Given the description of an element on the screen output the (x, y) to click on. 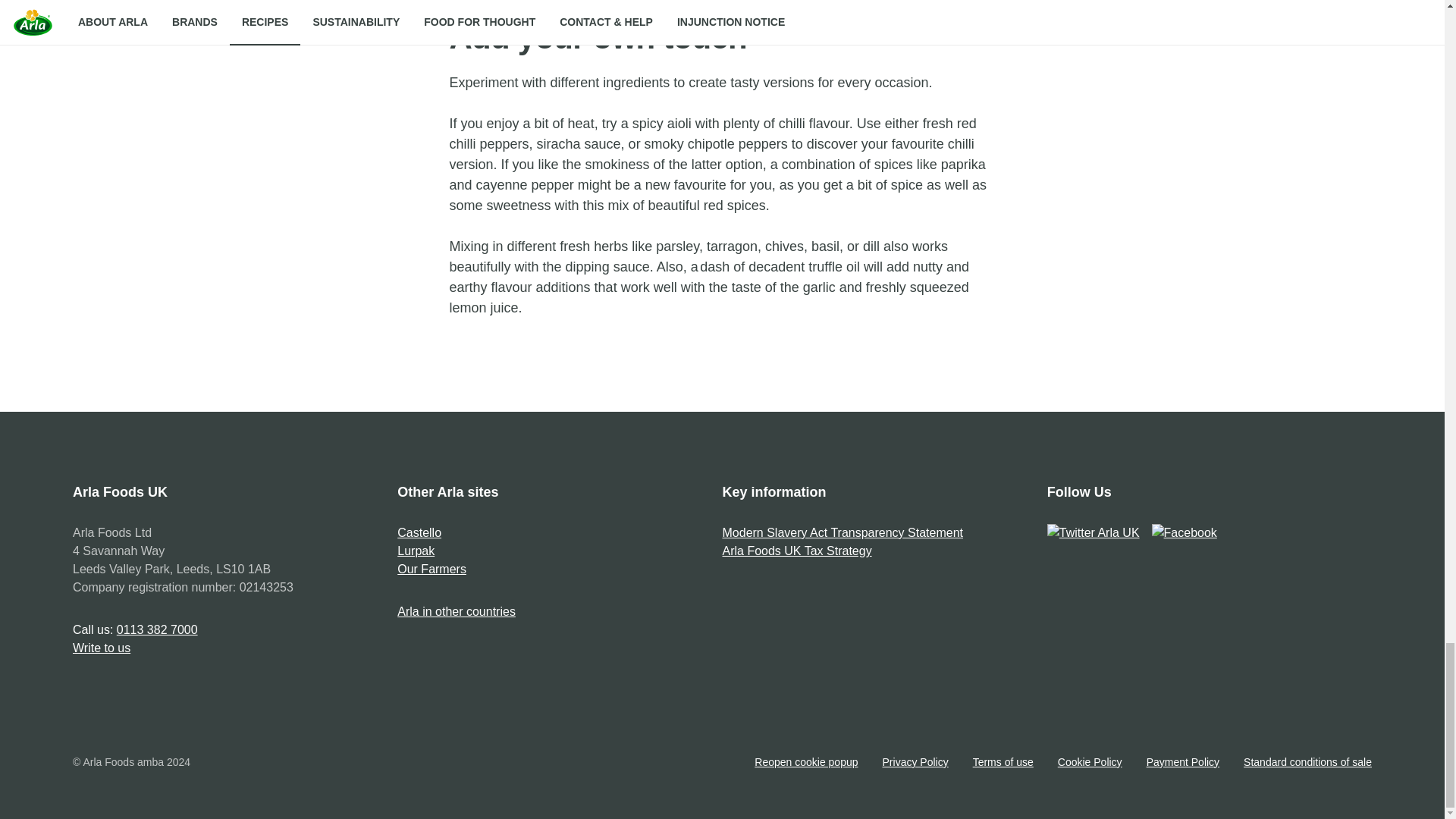
Twitter Arla UK (1093, 532)
Facebook (1184, 532)
Our Farmers (431, 568)
Arla Foods UK Tax Strategy (796, 550)
Modern Slavery Act Transparency Statement (842, 532)
